Given the description of an element on the screen output the (x, y) to click on. 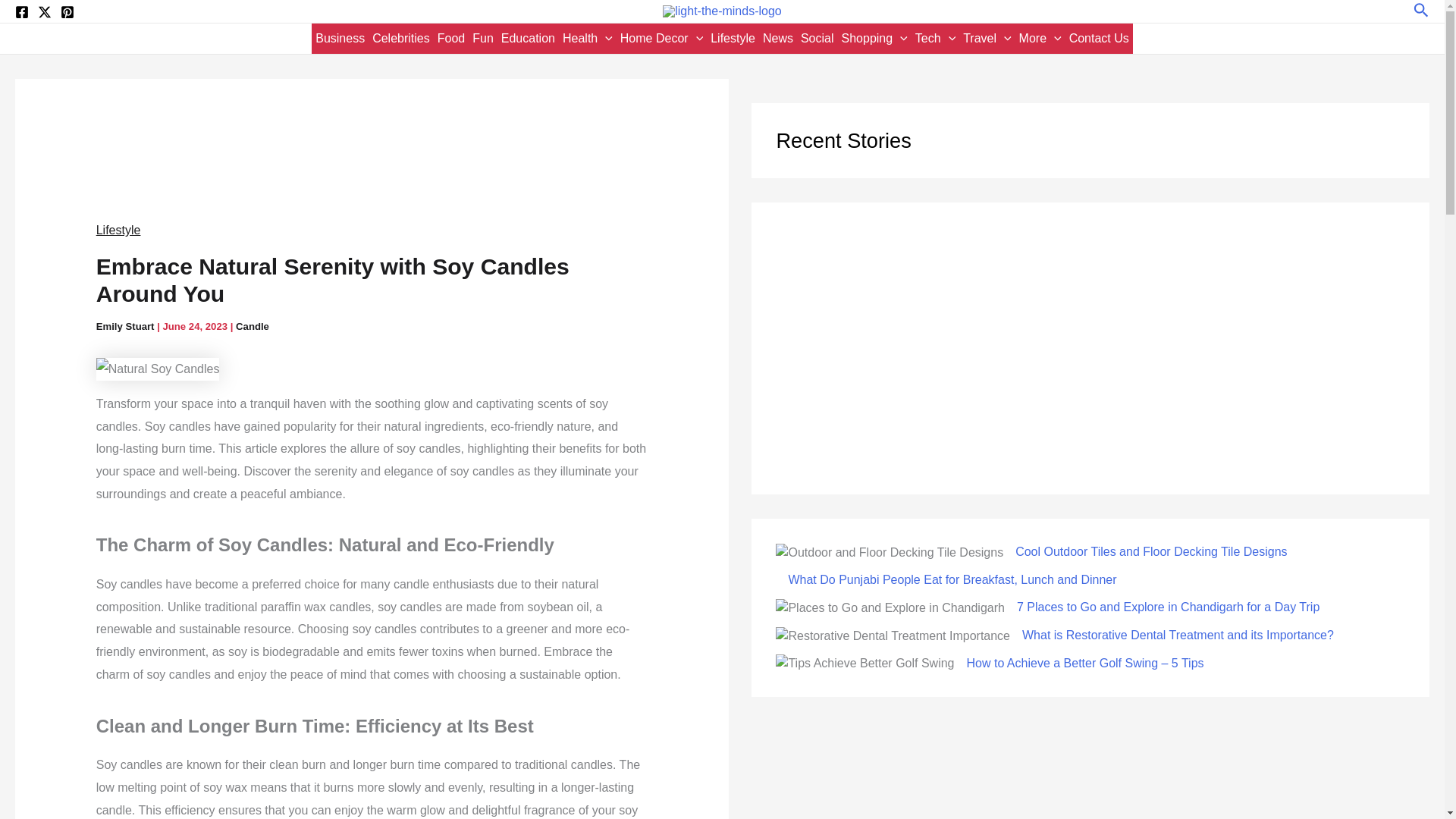
Home Decor (660, 38)
Celebrities (400, 38)
Tech (935, 38)
Business (339, 38)
Fun (482, 38)
Education (528, 38)
News (777, 38)
Health (587, 38)
Lifestyle (732, 38)
Social (817, 38)
